Given the description of an element on the screen output the (x, y) to click on. 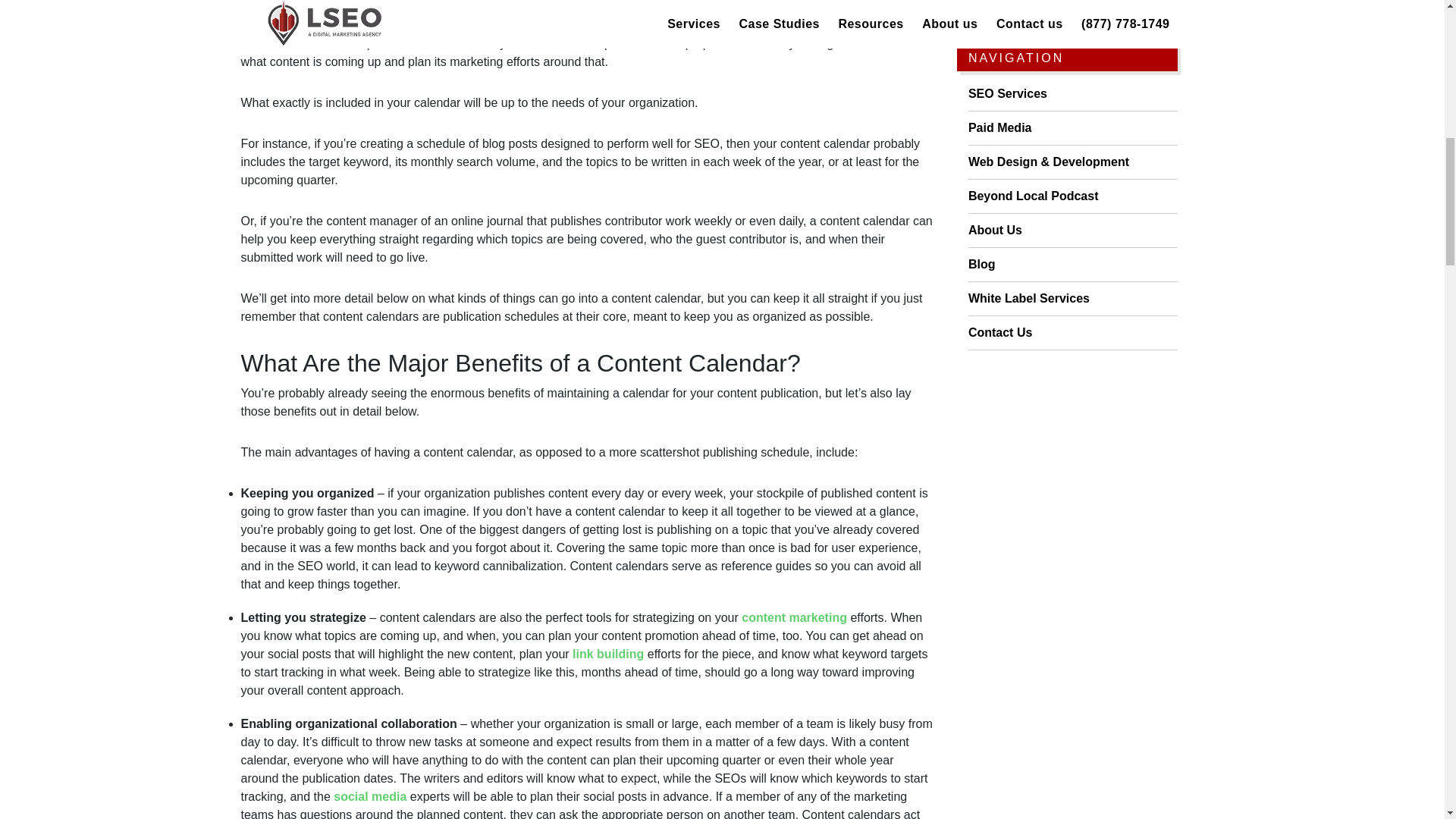
Content Marketing Agency (794, 617)
Social Media Marketing (369, 796)
